Given the description of an element on the screen output the (x, y) to click on. 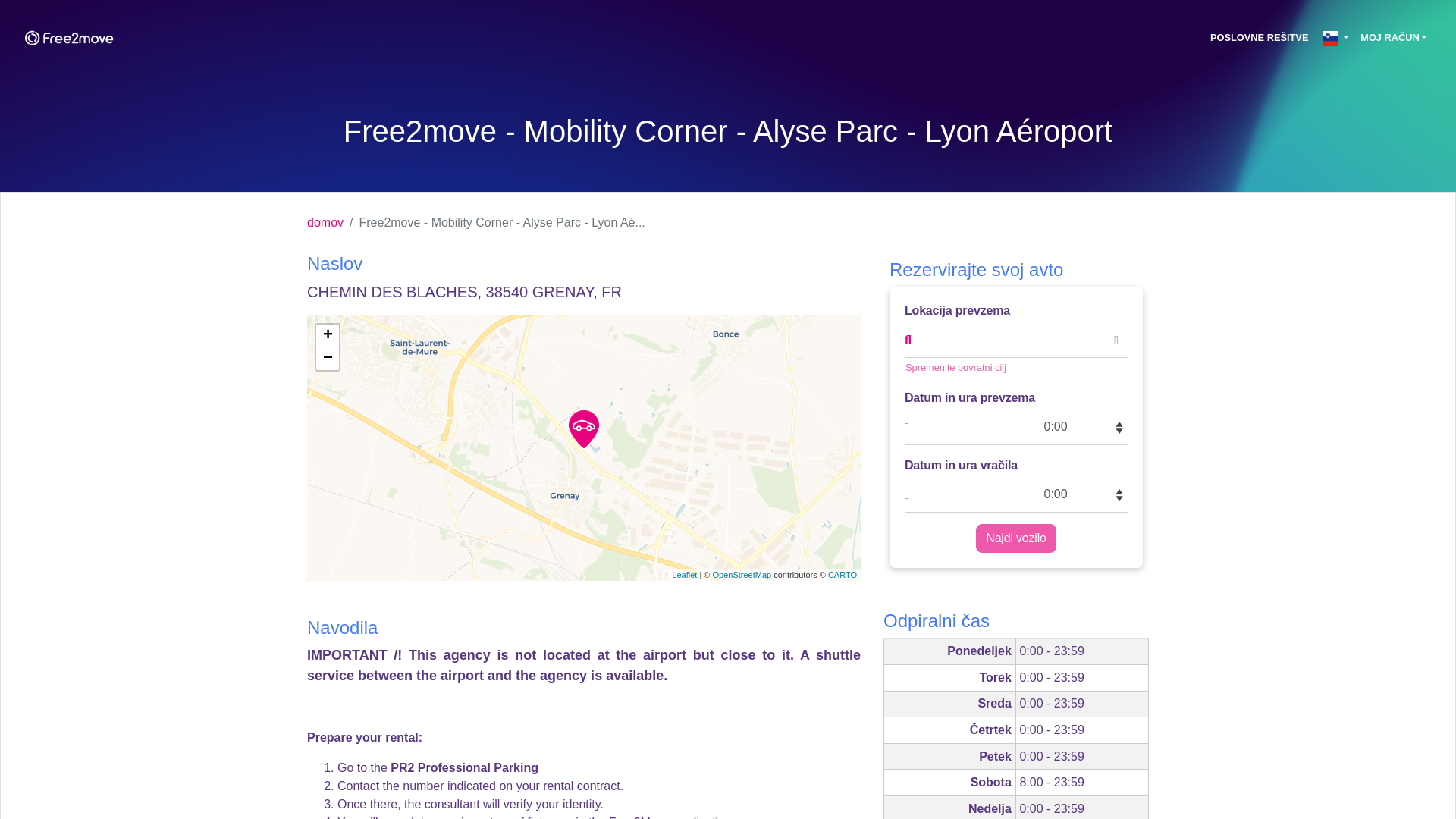
A JS library for interactive maps (684, 574)
Zoom out (327, 358)
domov (325, 222)
Zoom in (327, 335)
